Given the description of an element on the screen output the (x, y) to click on. 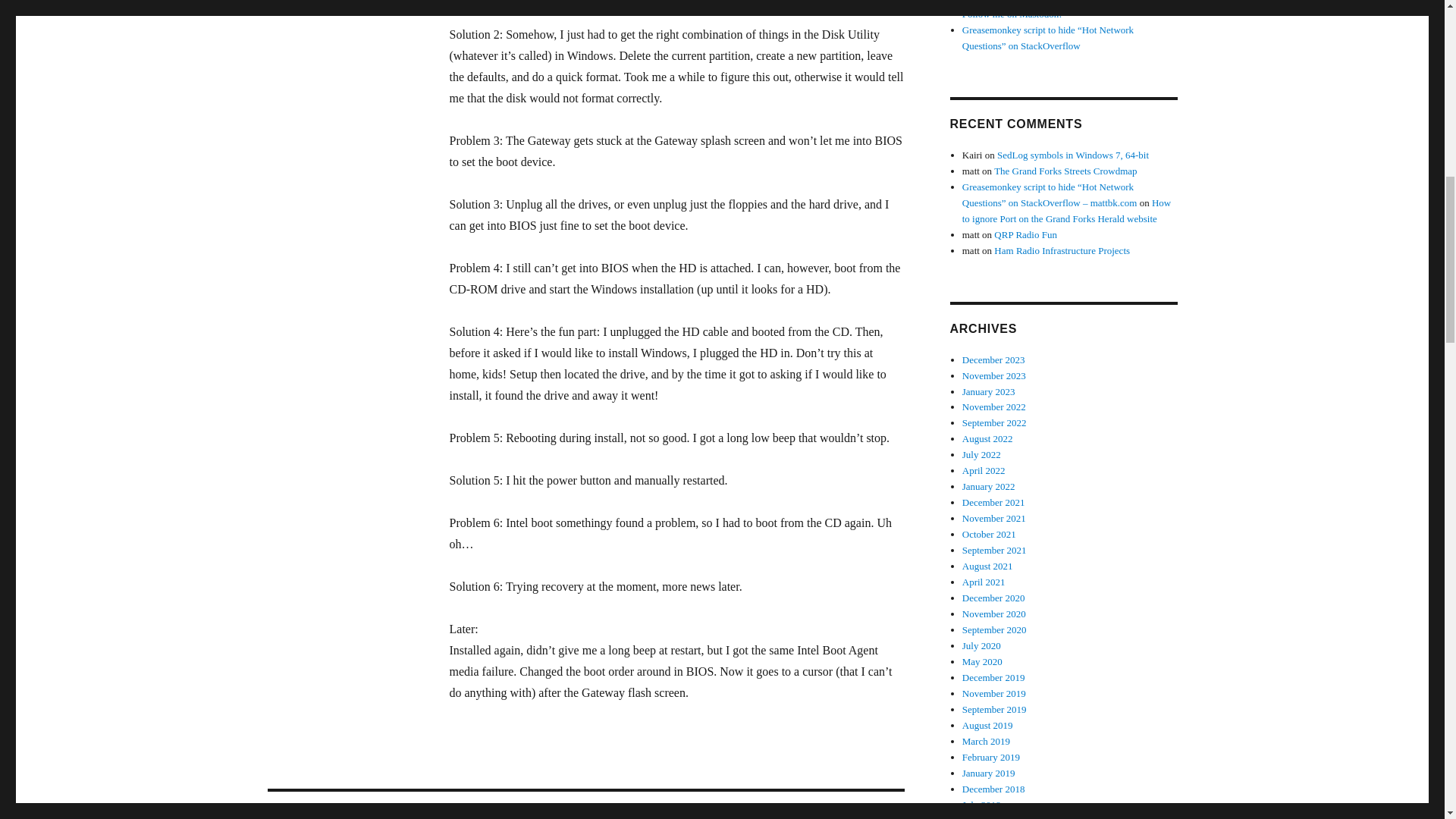
November 2022 (994, 406)
December 2023 (993, 359)
November 2023 (994, 375)
Northern Plains Athletics: End of an Era (1041, 2)
September 2022 (994, 422)
Ham Radio Infrastructure Projects (1061, 250)
How to ignore Port on the Grand Forks Herald website (1067, 210)
January 2023 (988, 390)
QRP Radio Fun (1025, 234)
Follow me on Mastodon! (1012, 13)
August 2022 (987, 438)
The Grand Forks Streets Crowdmap (1065, 170)
SedLog symbols in Windows 7, 64-bit (1072, 154)
